Given the description of an element on the screen output the (x, y) to click on. 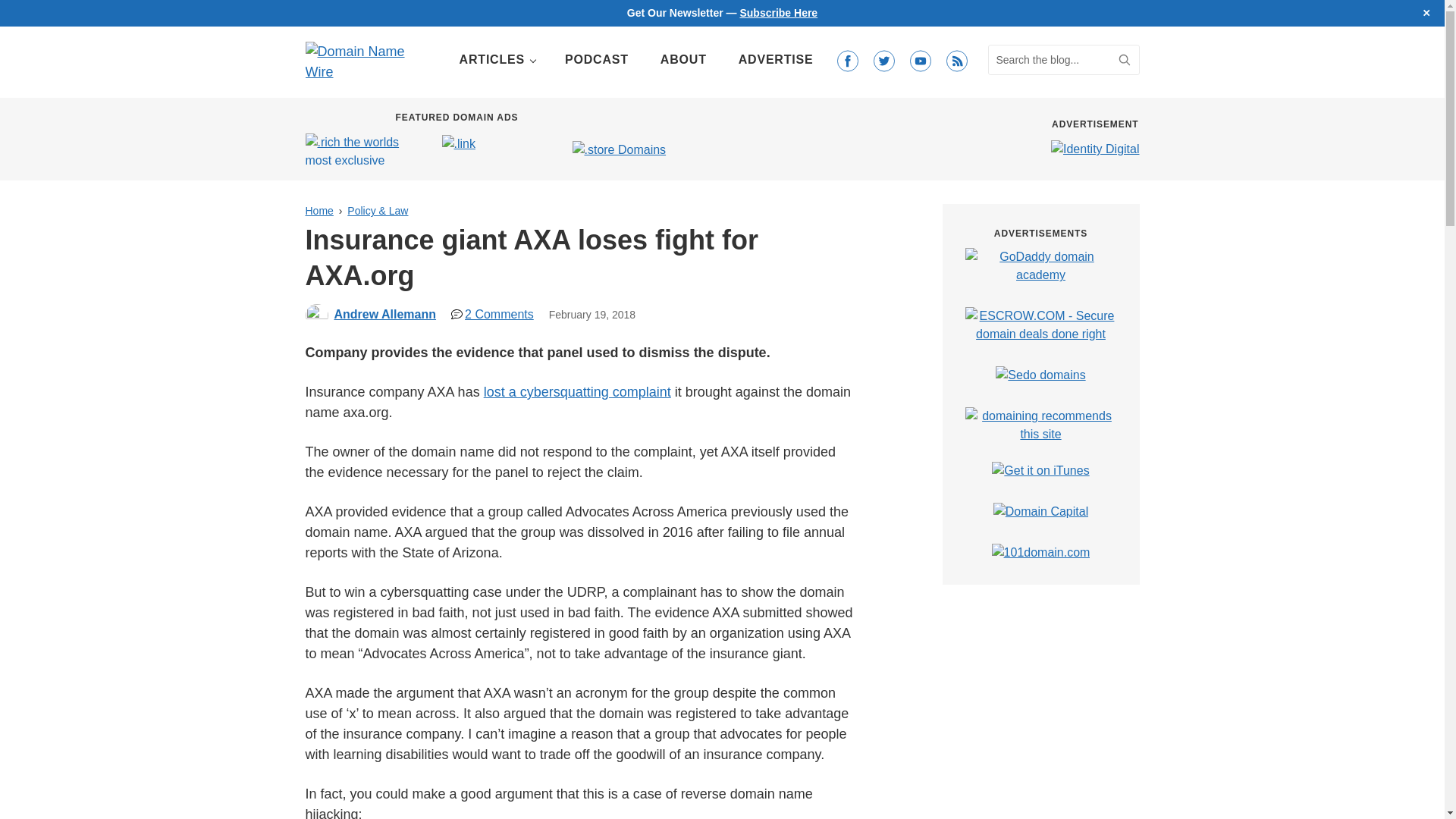
ADVERTISE (775, 60)
2 Comments (492, 314)
Subscribe Here (777, 12)
Home (318, 210)
Andrew Allemann (384, 314)
ARTICLES (495, 60)
lost a cybersquatting complaint (577, 391)
Submit search (1123, 60)
PODCAST (596, 60)
